Given the description of an element on the screen output the (x, y) to click on. 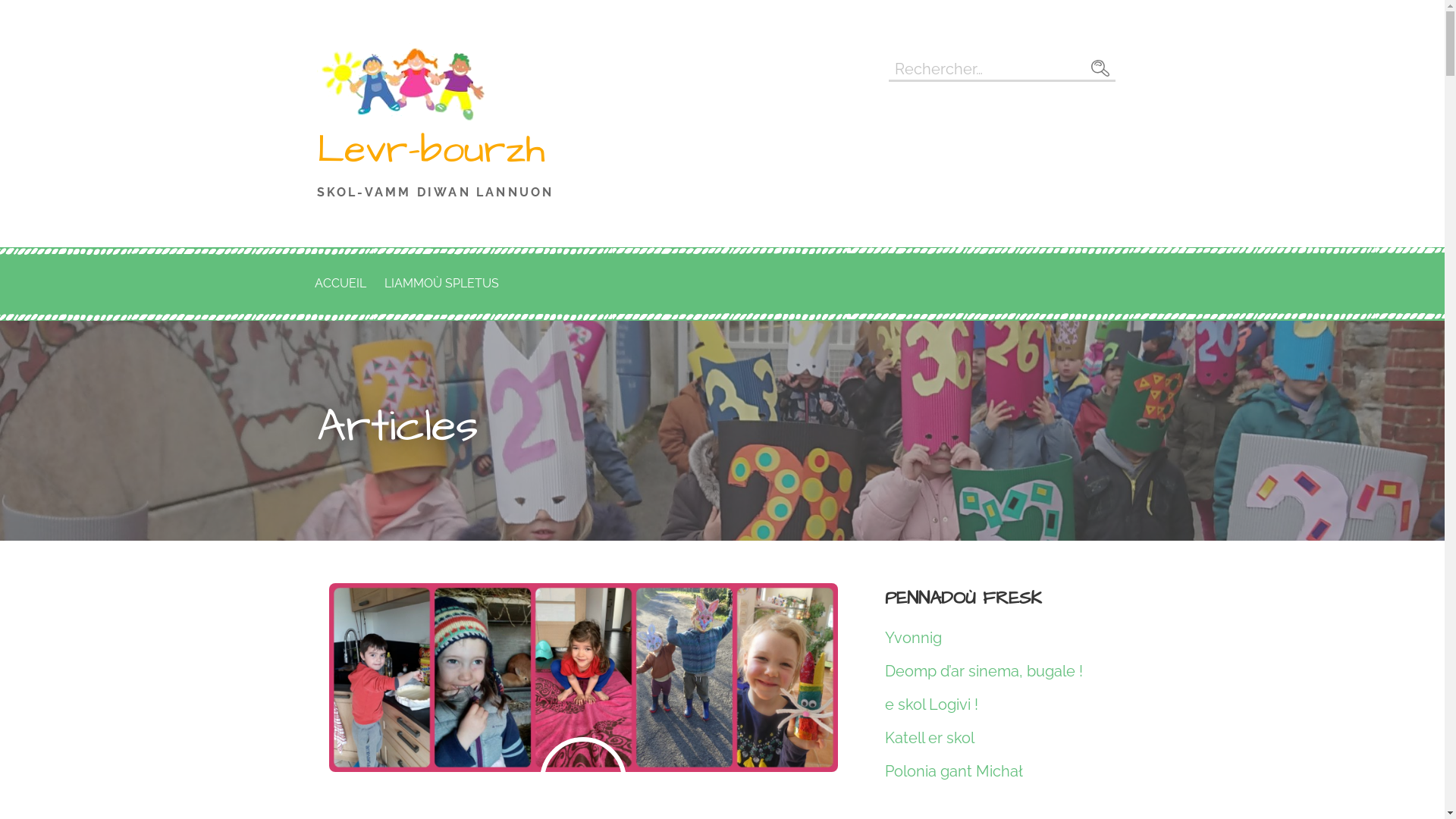
Levr-bourzh Element type: text (430, 149)
Katell er skol Element type: text (929, 737)
Yvonnig Element type: text (912, 637)
Rechercher Element type: text (1100, 67)
ACCUEIL Element type: text (339, 283)
e skol Logivi ! Element type: text (931, 704)
